Given the description of an element on the screen output the (x, y) to click on. 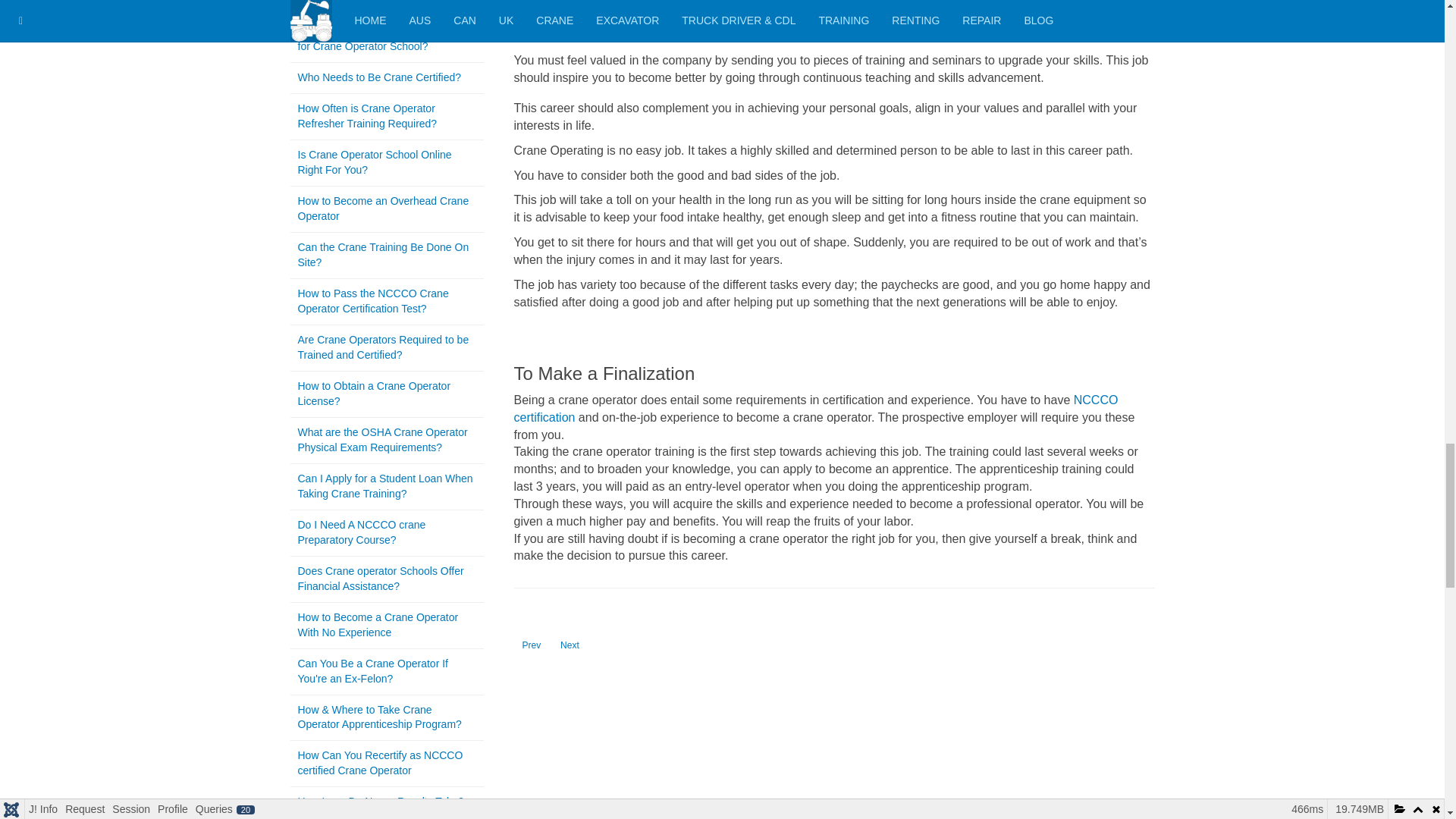
NCCCO certification (569, 644)
